Given the description of an element on the screen output the (x, y) to click on. 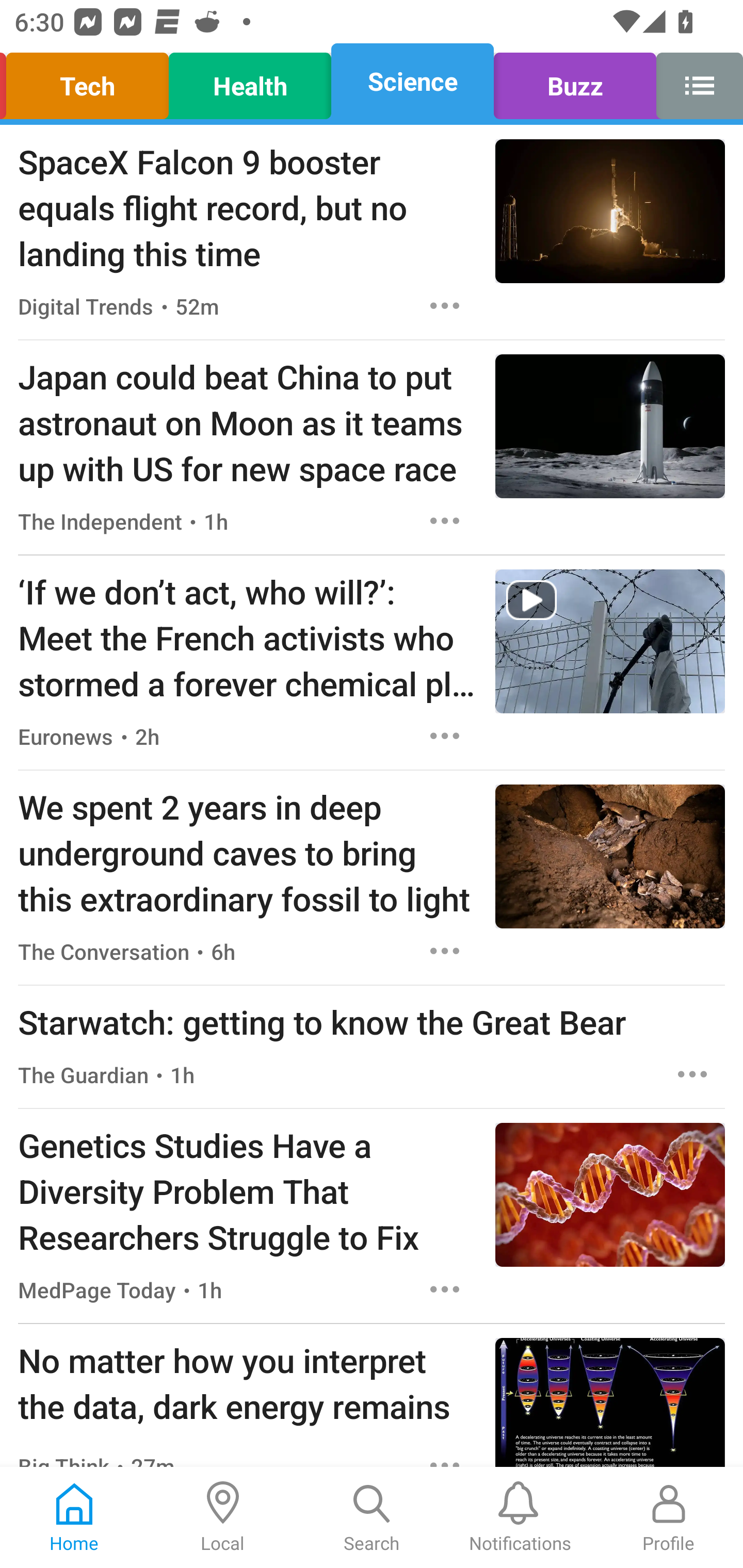
Tech (89, 81)
Health (249, 81)
Science (412, 81)
Buzz (574, 81)
 (694, 81)
Options (444, 305)
Options (444, 520)
Options (444, 736)
Options (444, 950)
Options (692, 1074)
Options (444, 1289)
Local (222, 1517)
Search (371, 1517)
Notifications (519, 1517)
Profile (668, 1517)
